Given the description of an element on the screen output the (x, y) to click on. 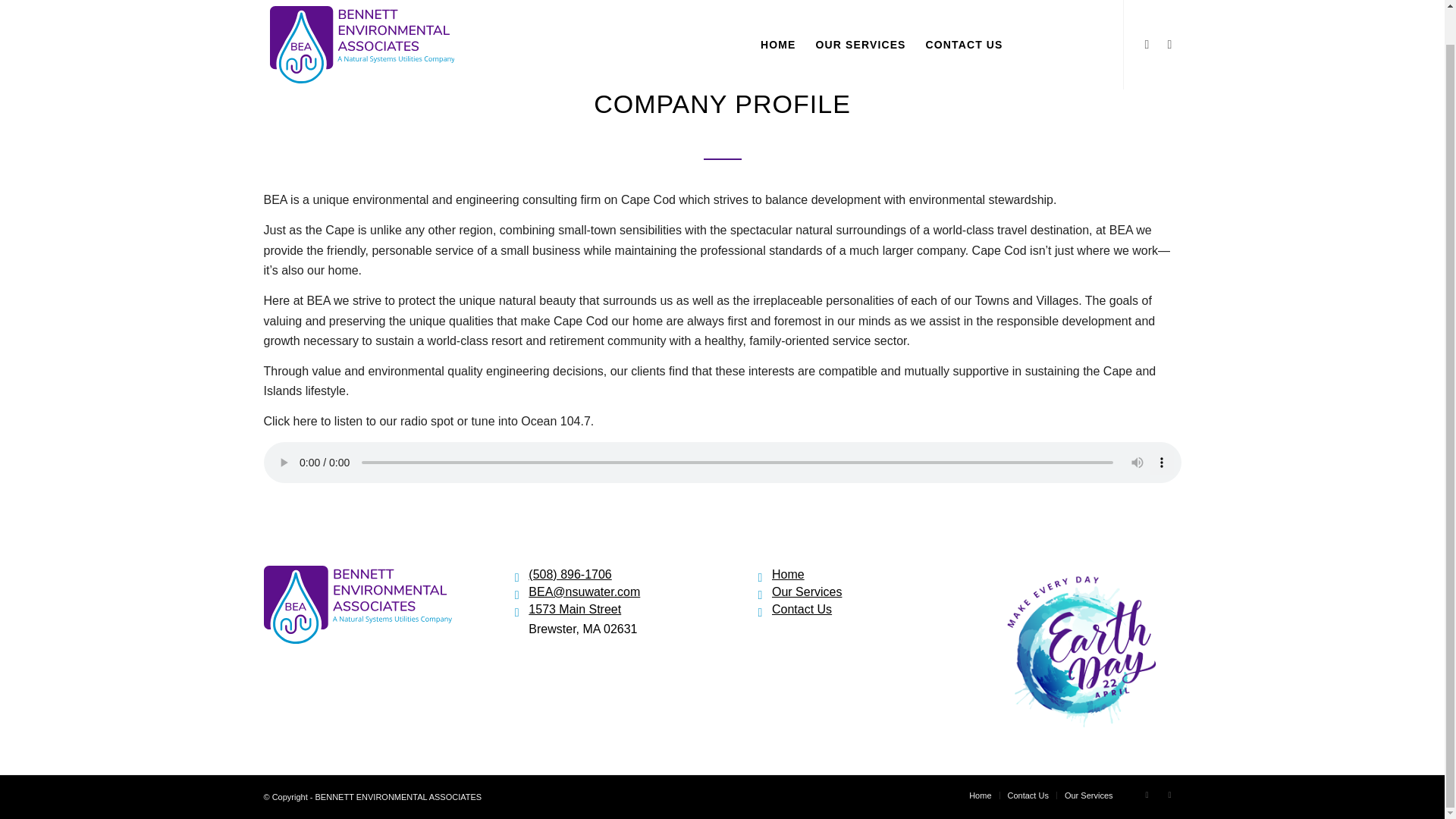
Home (980, 795)
Our Services (806, 591)
CONTACT US (964, 27)
Home (788, 574)
1573 Main Street (516, 609)
Contact Us (801, 608)
OUR SERVICES (860, 27)
1573 Main Street (574, 608)
Mail (1146, 9)
1573 Main Street (574, 608)
